Given the description of an element on the screen output the (x, y) to click on. 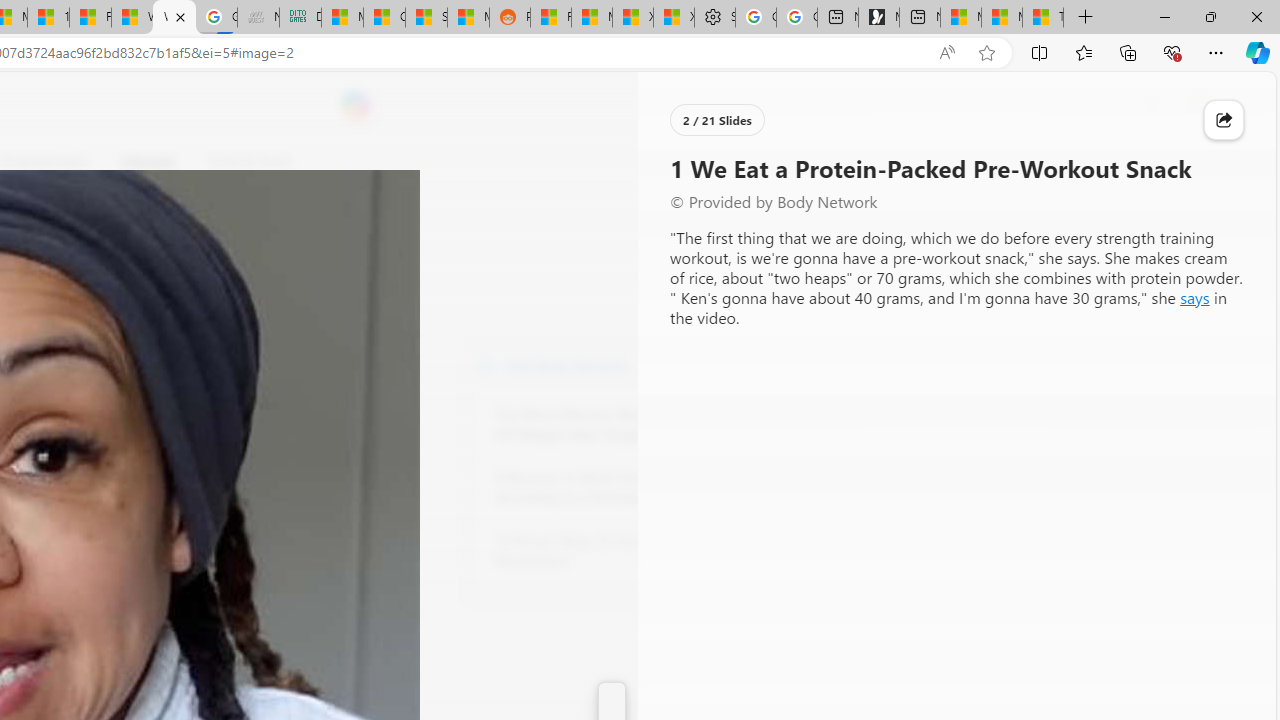
14 Common Myths Debunked By Scientific Facts (48, 17)
Lifestyle (148, 162)
Entertainment (45, 162)
Personalize (711, 162)
Lifestyle (148, 162)
These 3 Stocks Pay You More Than 5% to Own Them (1042, 17)
Go to publisher's site (180, 258)
